Given the description of an element on the screen output the (x, y) to click on. 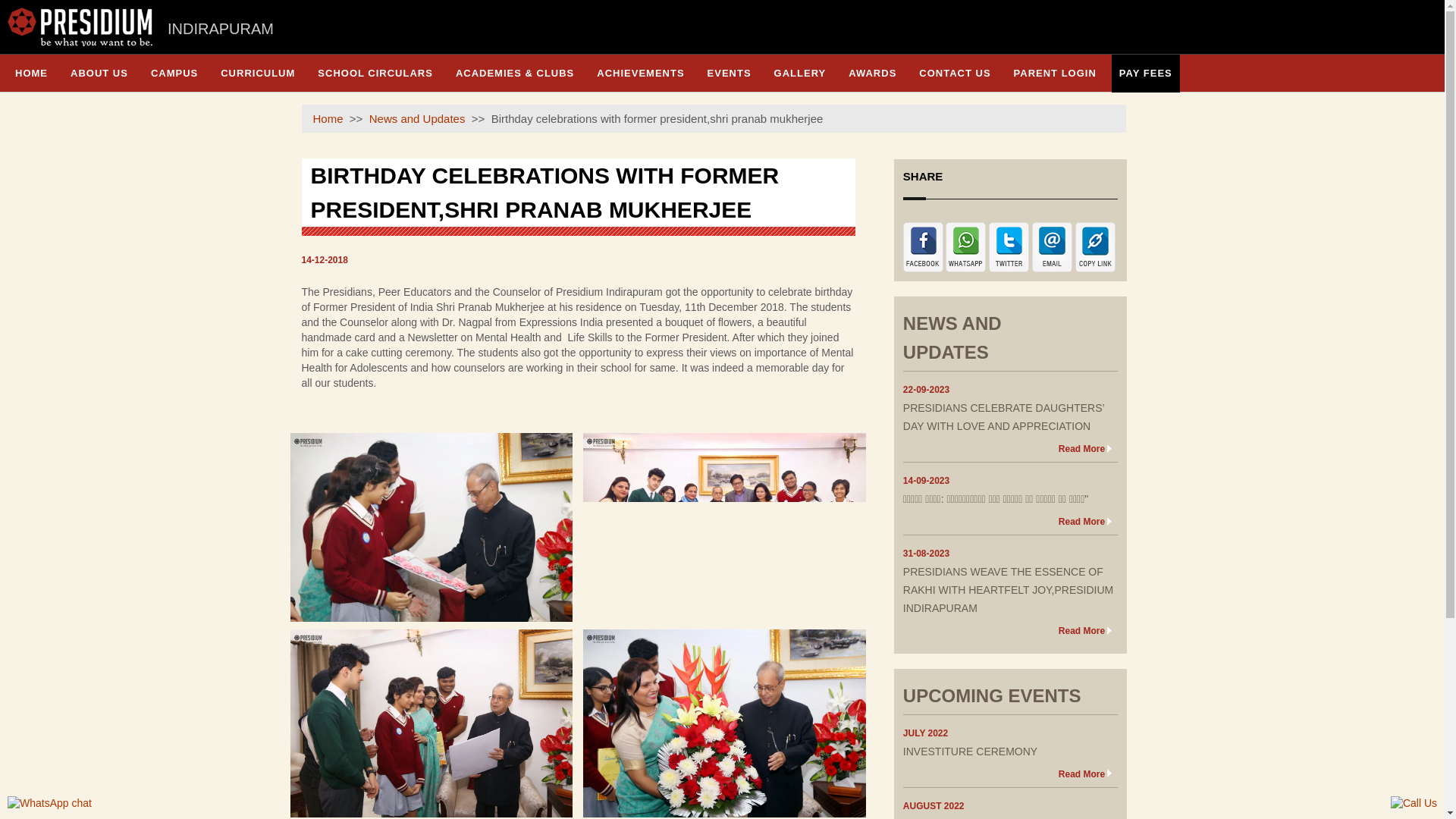
ABOUT US (98, 72)
Call Us (1413, 803)
HOME (31, 72)
CAMPUS (173, 72)
CURRICULUM (257, 72)
SCHOOL CIRCULARS (375, 72)
WhatsApp us (49, 803)
